Given the description of an element on the screen output the (x, y) to click on. 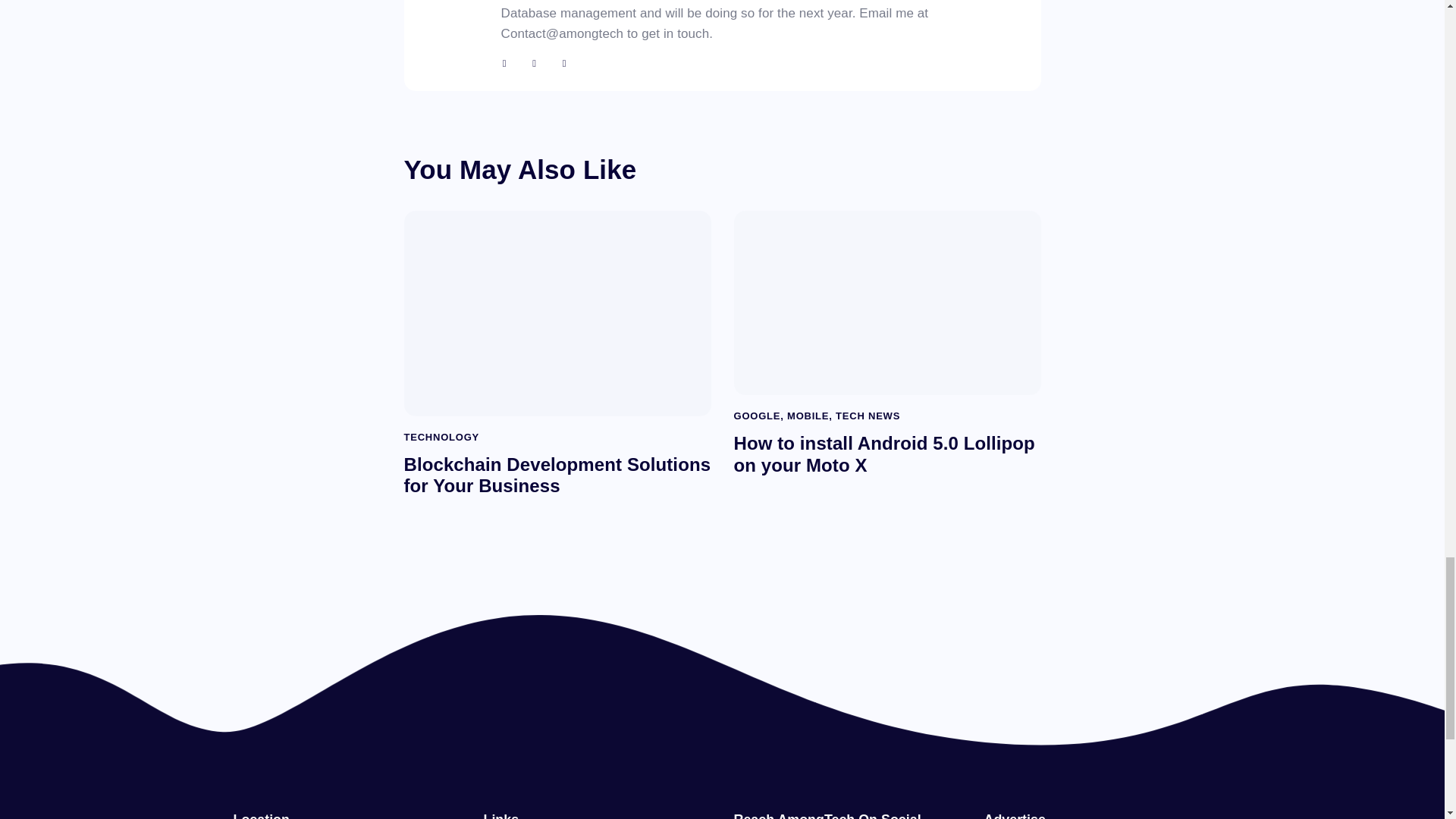
Blockchain Development Solutions for Your Business - 2 (555, 311)
How to install Android 5.0 Lollipop on your Moto X - 3 (885, 301)
